Given the description of an element on the screen output the (x, y) to click on. 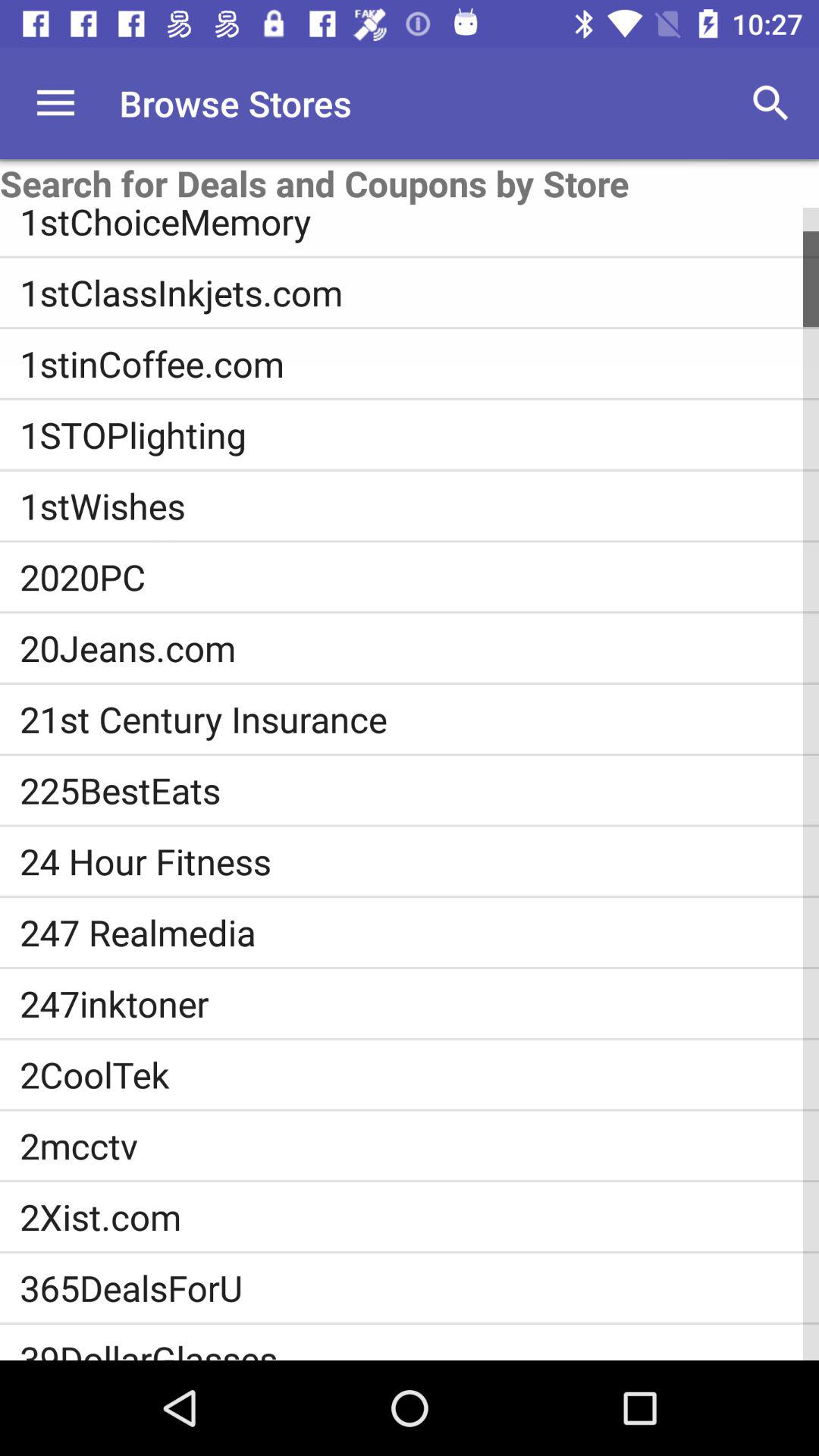
turn off icon above 2xist.com (419, 1145)
